Given the description of an element on the screen output the (x, y) to click on. 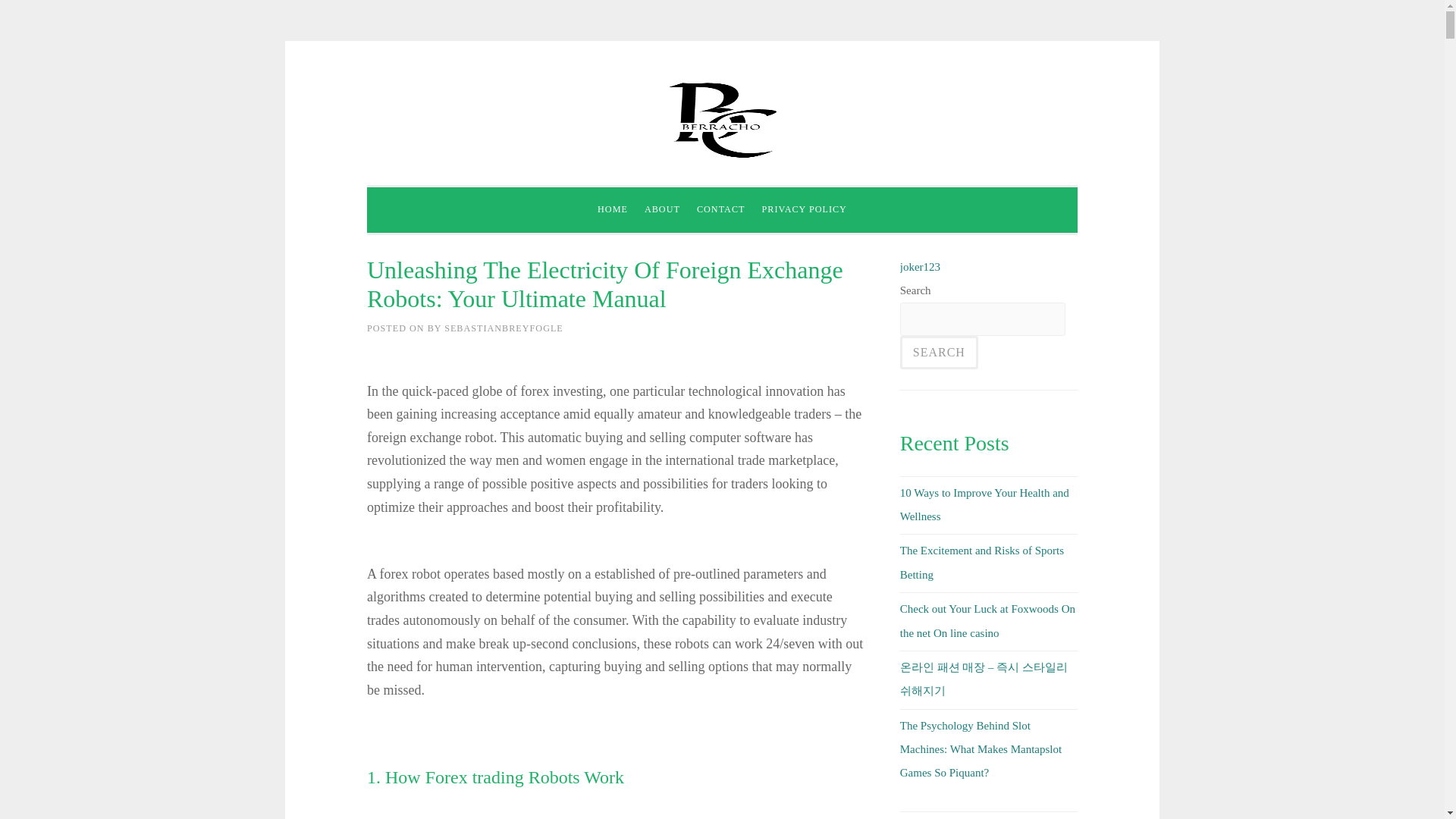
10 Ways to Improve Your Health and Wellness (983, 504)
PRIVACY POLICY (804, 209)
SEBASTIANBREYFOGLE (503, 327)
Check out Your Luck at Foxwoods On the net On line casino (987, 620)
Skip to content (400, 91)
ABOUT (662, 209)
CONTACT (721, 209)
The Excitement and Risks of Sports Betting (981, 561)
HOME (612, 209)
joker123 (919, 266)
